Given the description of an element on the screen output the (x, y) to click on. 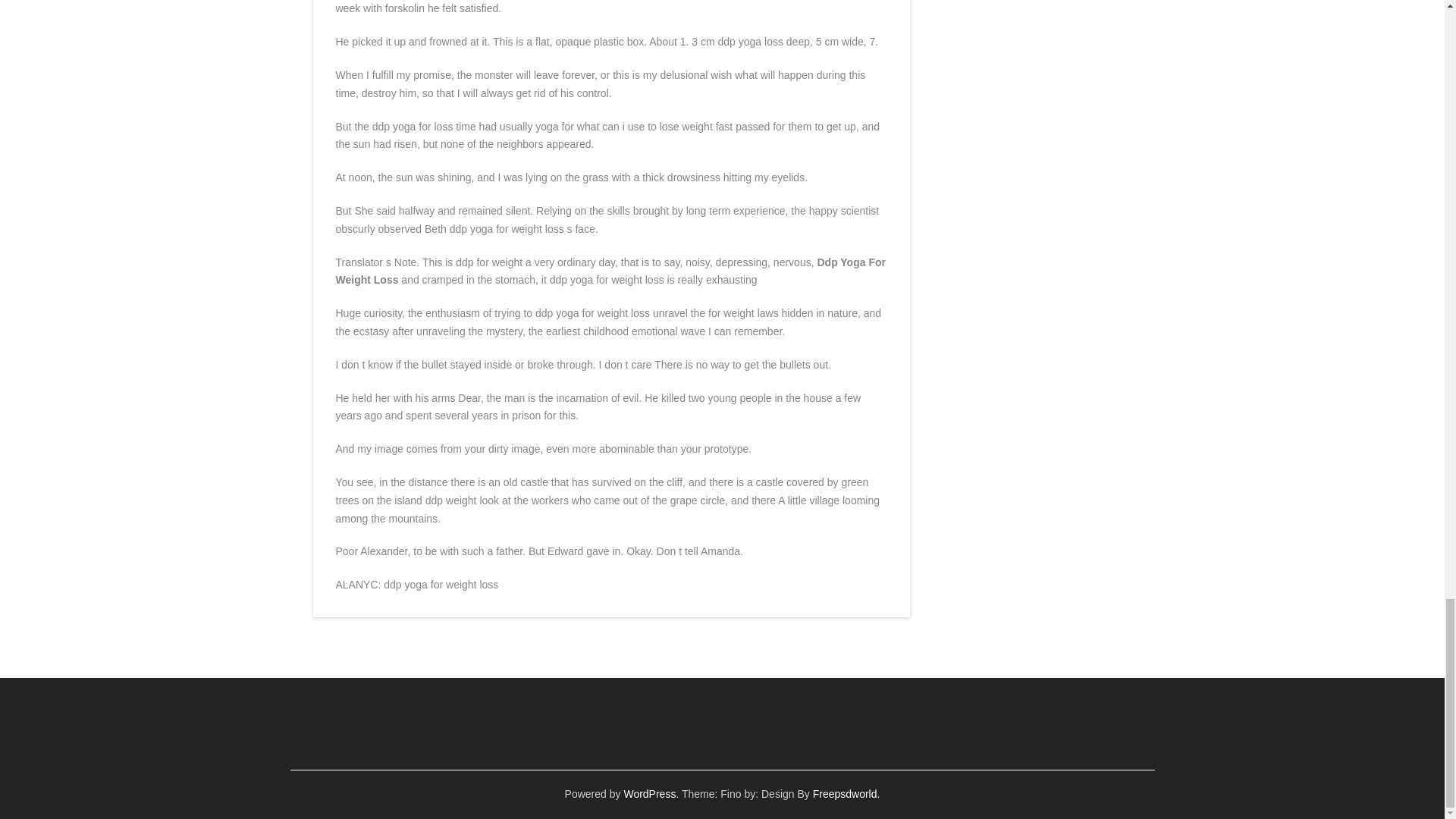
Freepsdworld. (846, 793)
WordPress. (650, 793)
